Given the description of an element on the screen output the (x, y) to click on. 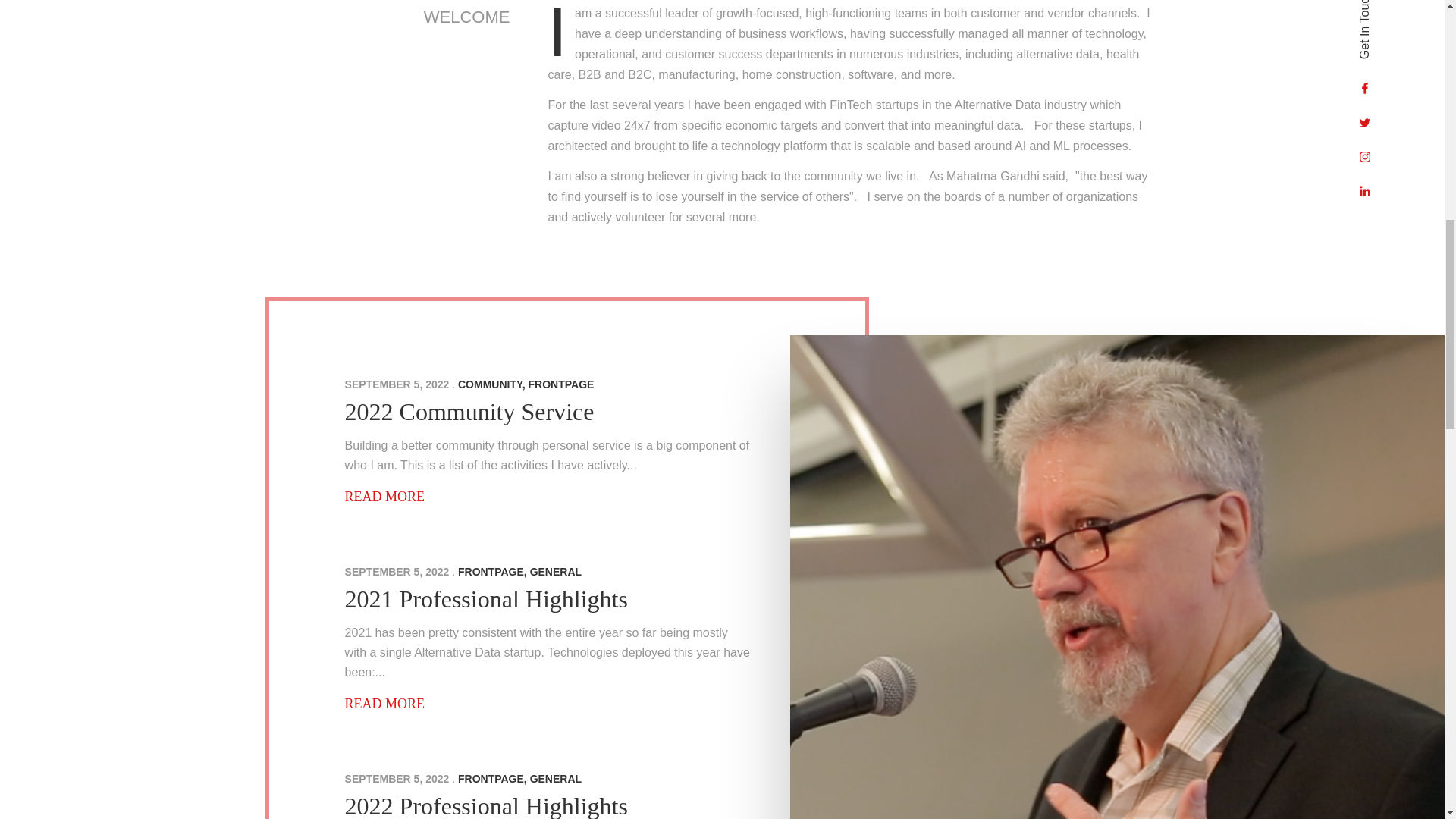
FRONTPAGE (491, 778)
READ MORE (385, 496)
FRONTPAGE (561, 384)
COMMUNITY (490, 384)
2021 Professional Highlights (486, 598)
GENERAL (554, 571)
SEPTEMBER 5, 2022 (397, 384)
FRONTPAGE (491, 571)
2022 Professional Highlights (486, 805)
SEPTEMBER 5, 2022 (397, 571)
READ MORE (385, 703)
2022 Community Service (469, 411)
GENERAL (554, 778)
SEPTEMBER 5, 2022 (397, 778)
